Given the description of an element on the screen output the (x, y) to click on. 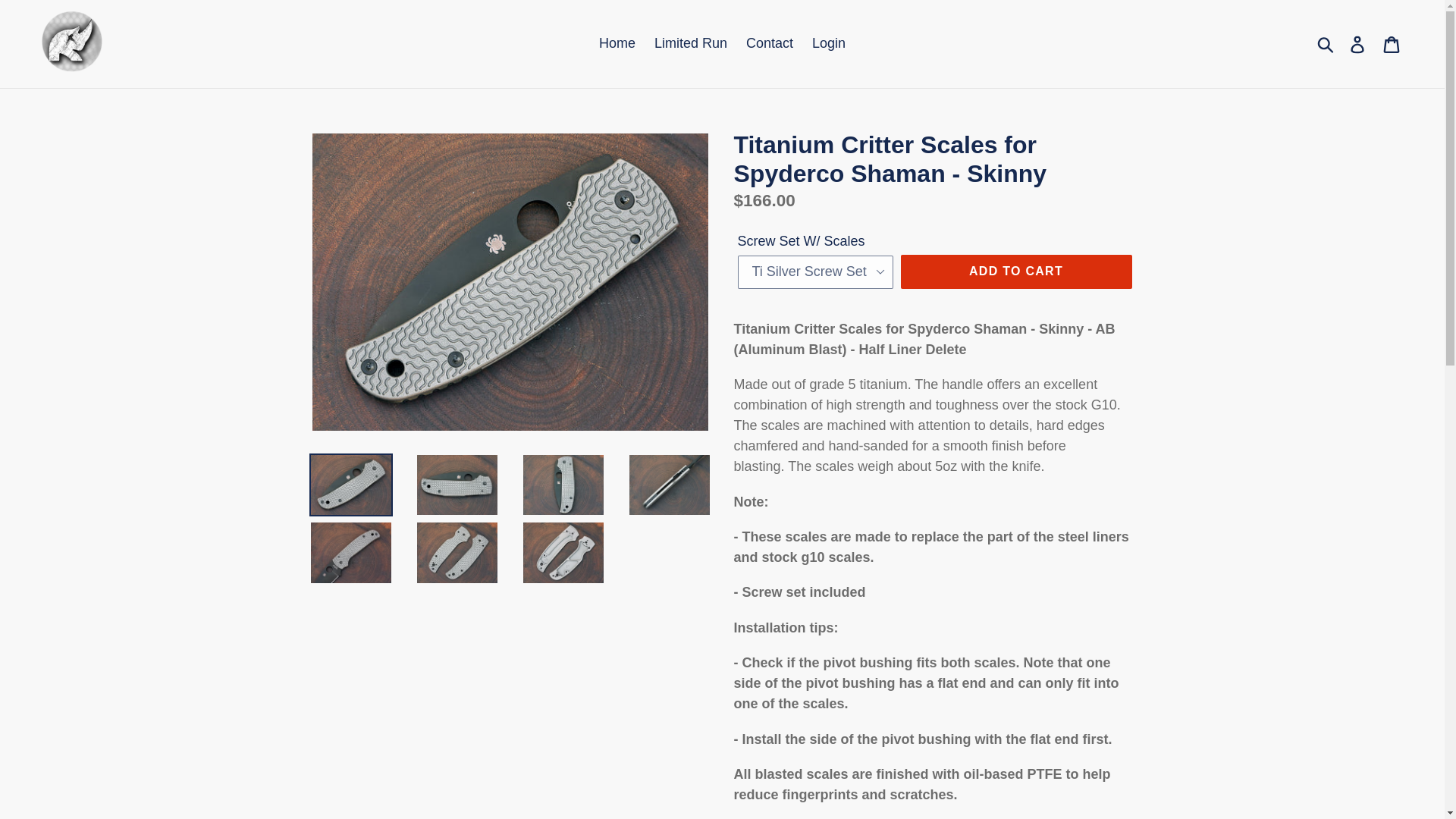
Login (829, 43)
Cart (1392, 43)
Limited Run (690, 43)
Contact (769, 43)
ADD TO CART (1016, 271)
Submit (1326, 43)
Home (617, 43)
Log in (1357, 43)
